Given the description of an element on the screen output the (x, y) to click on. 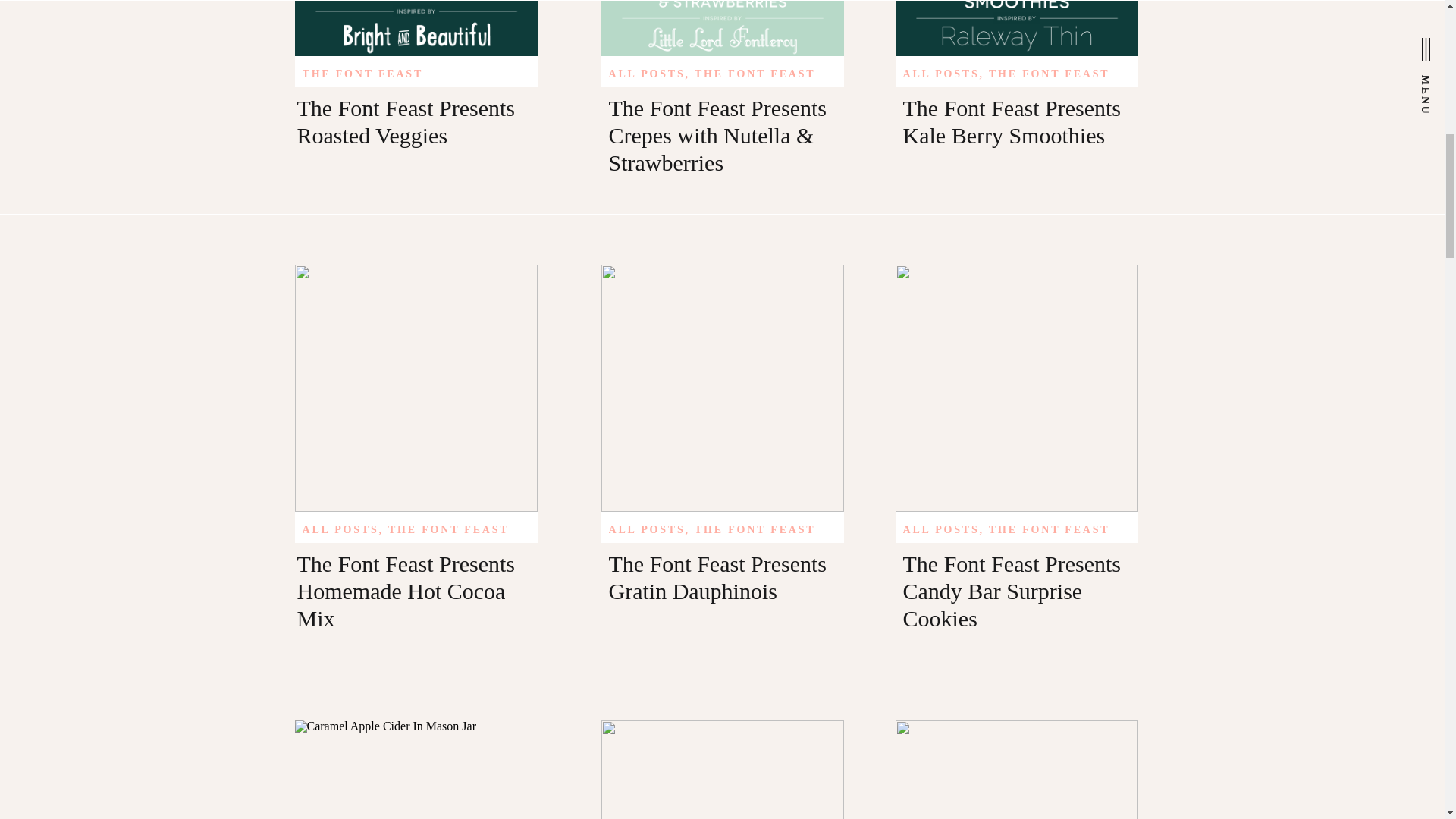
The Font Feast Presents Homemade Hot Cocoa Mix (406, 590)
The Font Feast Presents Roasted Veggies (406, 121)
THE FONT FEAST (448, 529)
THE FONT FEAST (754, 529)
The Font Feast Presents Roasted Veggies (415, 28)
ALL POSTS (940, 529)
The Font Feast Presents Candy Bar Surprise Cookies (1016, 387)
THE FONT FEAST (362, 73)
The Font Feast Presents Gratin Dauphinois (721, 387)
ALL POSTS (646, 529)
The Font Feast Presents Caramel Apple Cider (415, 769)
The Font Feast Presents Kale Berry Smoothies (1010, 121)
ALL POSTS (940, 73)
The Font Feast Presents Kale Berry Smoothies (1016, 28)
ALL POSTS (646, 73)
